Given the description of an element on the screen output the (x, y) to click on. 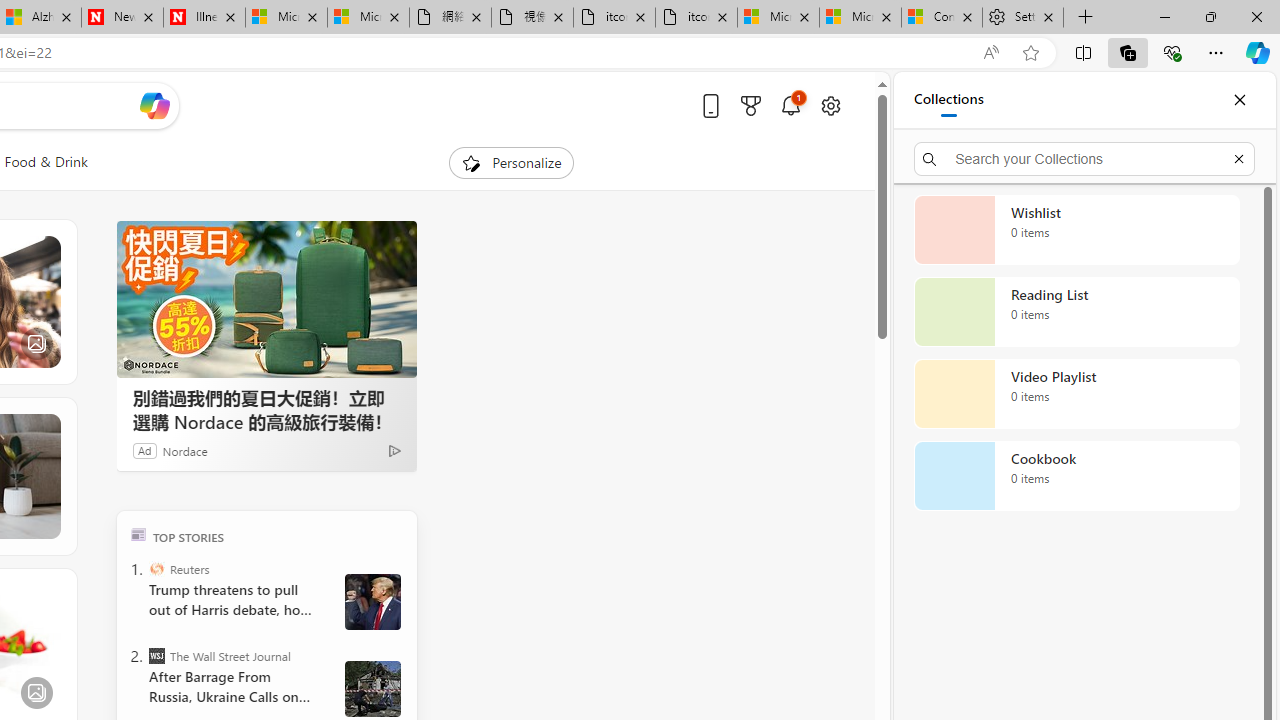
itconcepthk.com/projector_solutions.mp4 (696, 17)
Cookbook collection, 0 items (1076, 475)
Video Playlist collection, 0 items (1076, 394)
Illness news & latest pictures from Newsweek.com (203, 17)
Reuters (156, 568)
